Given the description of an element on the screen output the (x, y) to click on. 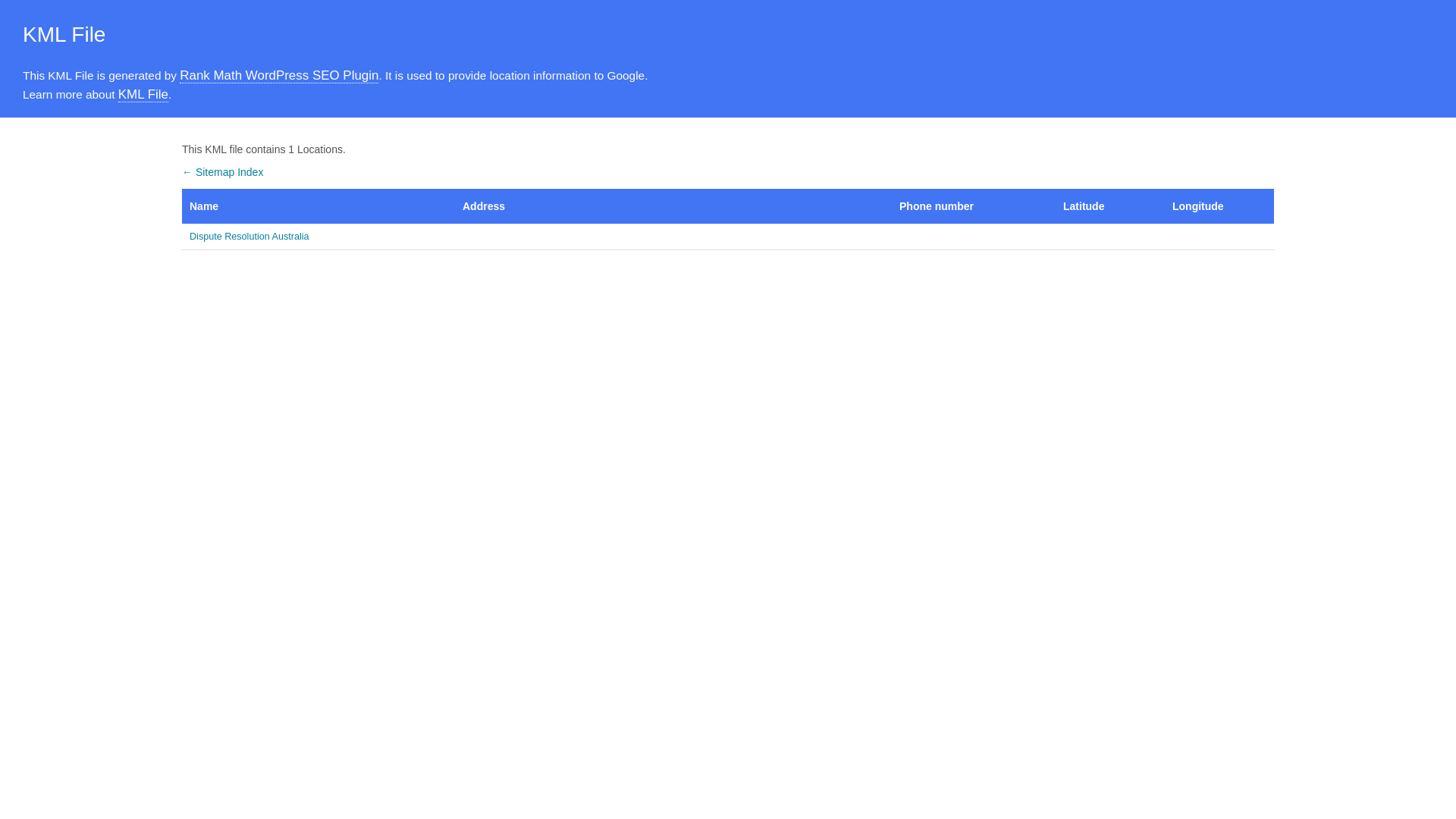
Rank Math WordPress SEO Plugin Element type: text (278, 75)
KML File Element type: text (143, 94)
Dispute Resolution Australia Element type: text (318, 236)
